Given the description of an element on the screen output the (x, y) to click on. 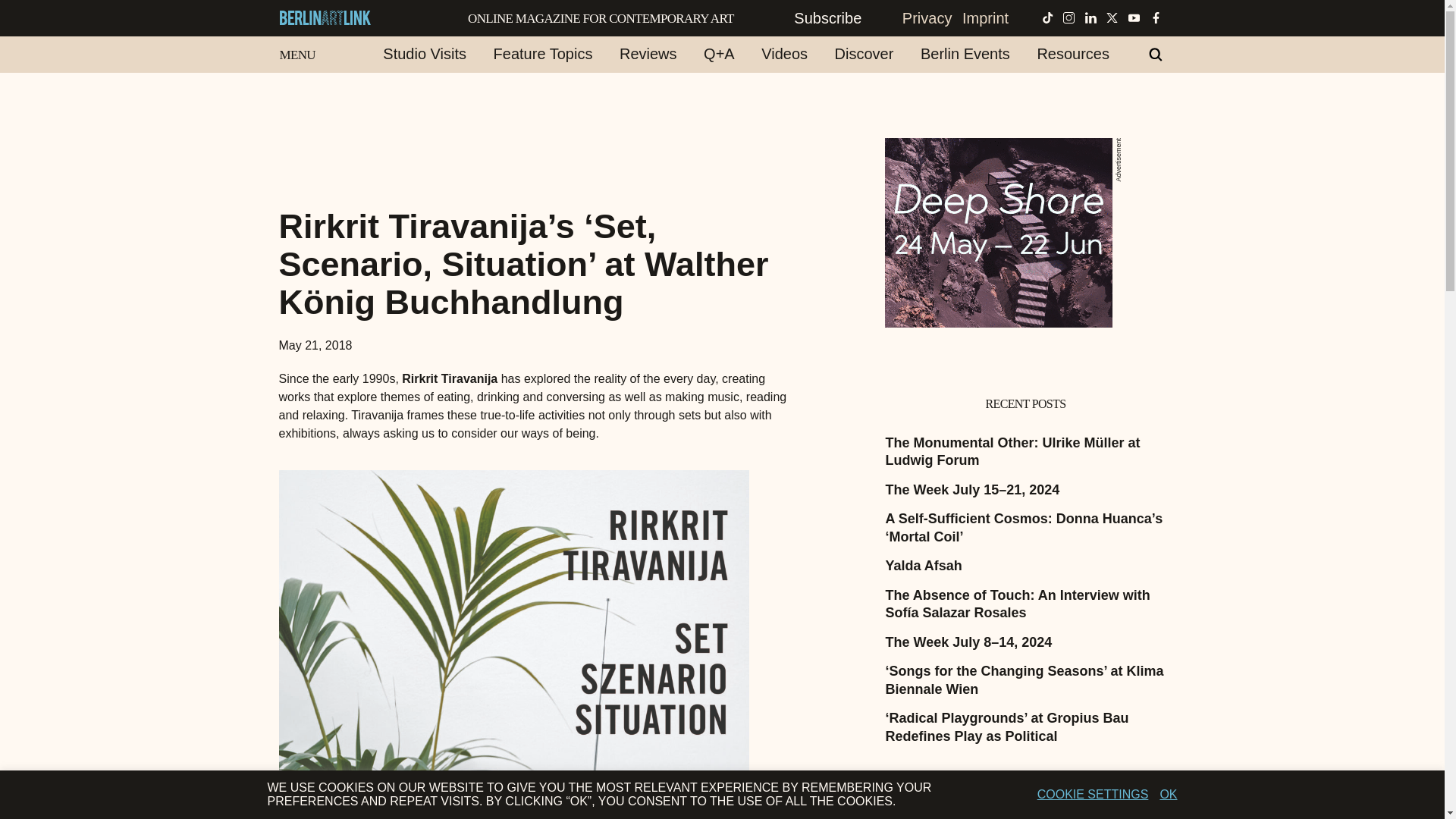
Berlin Events (965, 53)
Imprint (984, 18)
Studio Visits (425, 53)
Resources (1073, 53)
Reviews (647, 53)
Discover (863, 53)
Privacy (927, 18)
MENU (290, 51)
Feature Topics (543, 53)
Subscribe (842, 18)
Videos (784, 53)
